Given the description of an element on the screen output the (x, y) to click on. 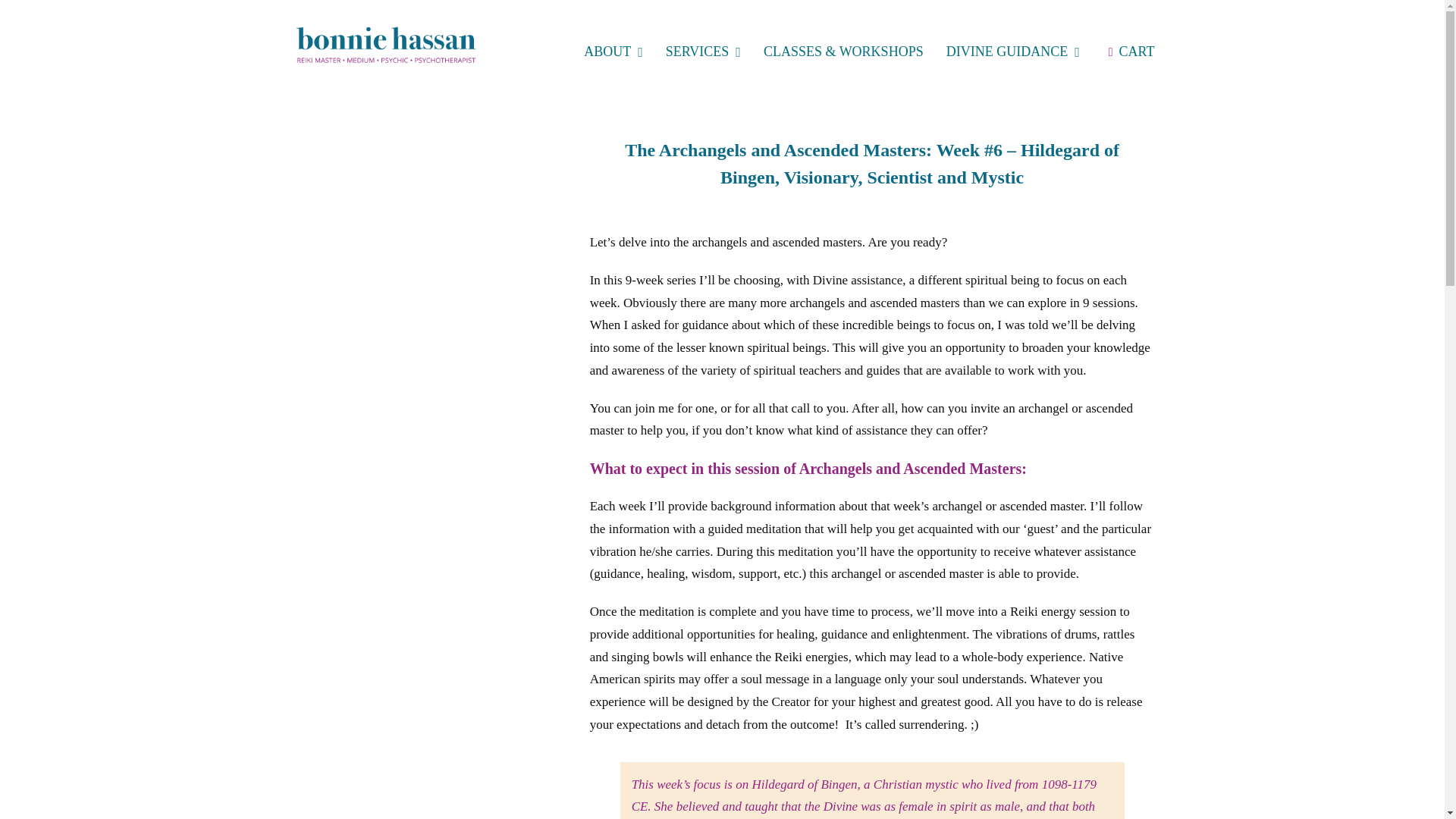
SERVICES (703, 51)
DIVINE GUIDANCE (1013, 51)
ABOUT (613, 51)
